Given the description of an element on the screen output the (x, y) to click on. 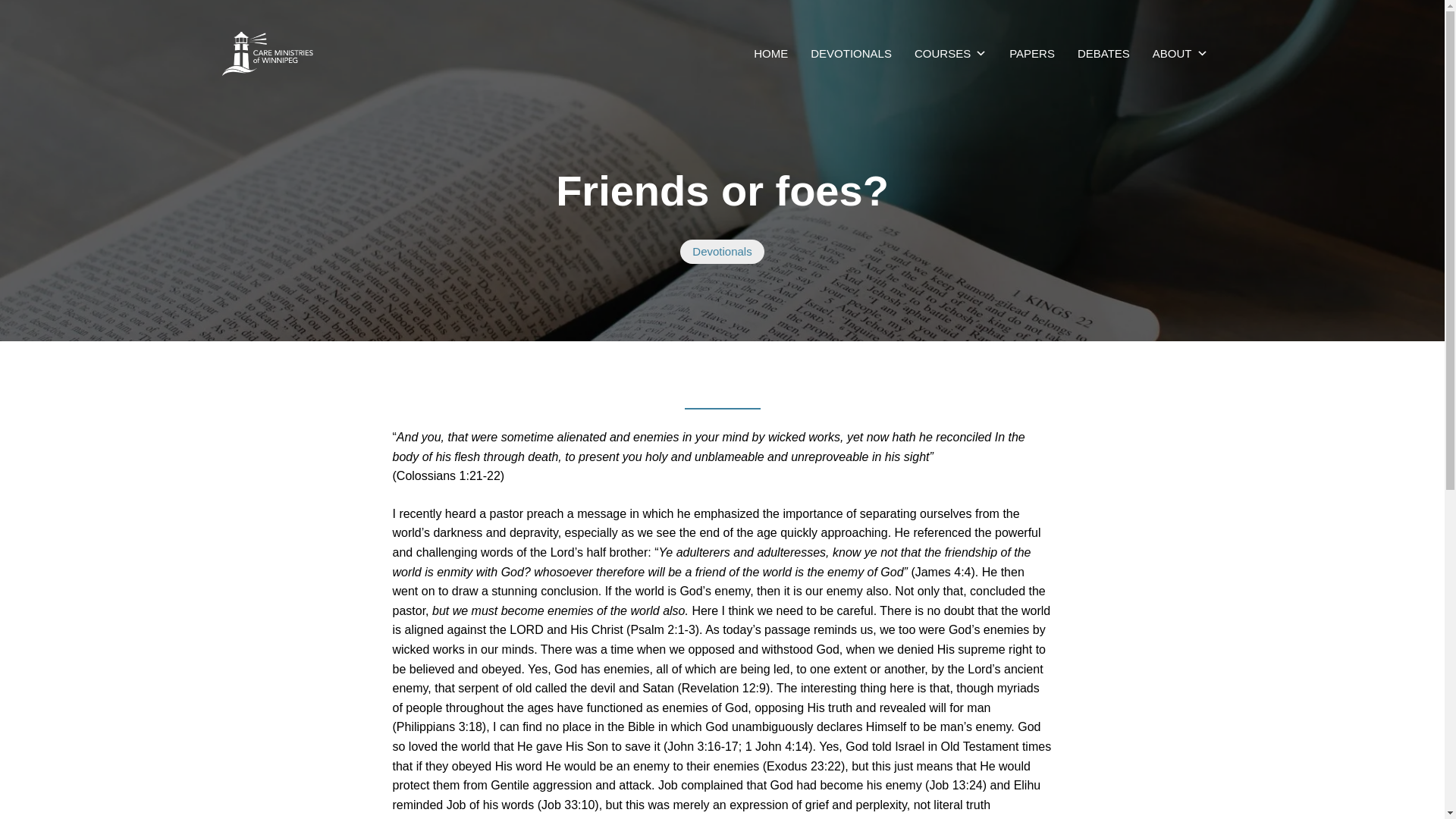
DEBATES (1103, 53)
DEVOTIONALS (851, 53)
PAPERS (1031, 53)
COURSES (950, 53)
CARE Ministries of Winnipeg (769, 53)
HOME (769, 53)
ABOUT (1179, 53)
Devotionals (720, 251)
